Given the description of an element on the screen output the (x, y) to click on. 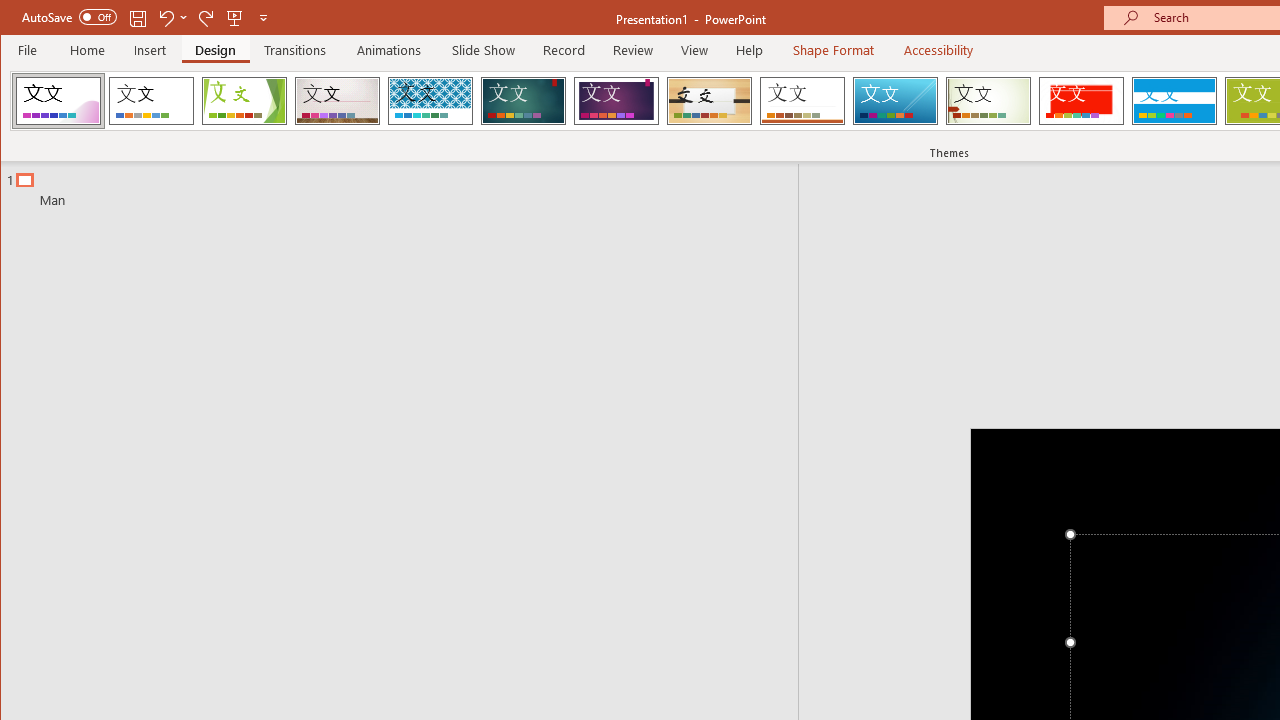
Retrospect (802, 100)
Ion Boardroom (616, 100)
Organic (709, 100)
Facet (244, 100)
